Given the description of an element on the screen output the (x, y) to click on. 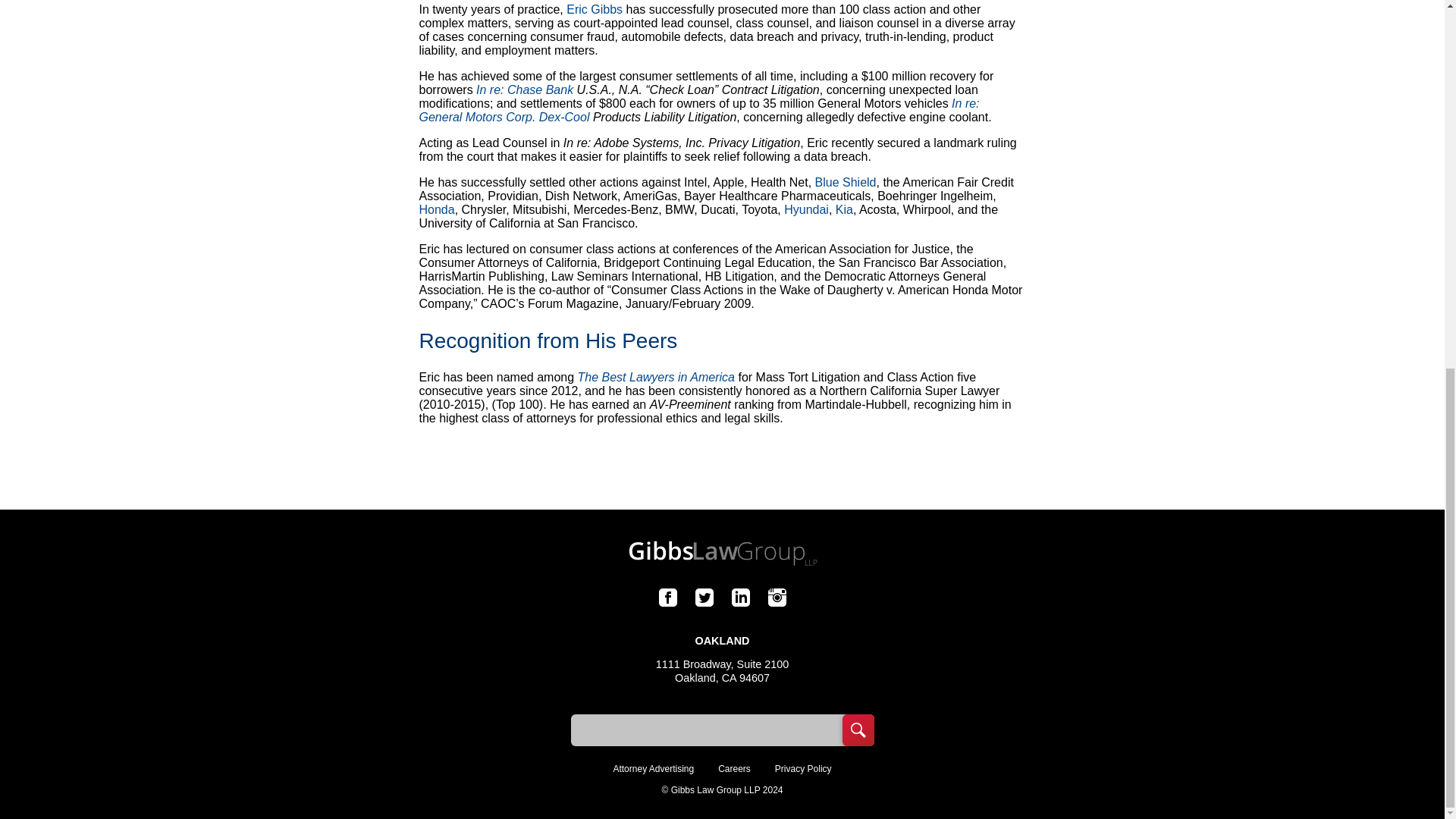
Eric Gibbs (594, 9)
Hyundai (806, 209)
In re: General Motors Corp. Dex-Cool (698, 110)
Privacy Policy (802, 768)
The Best Lawyers in America (656, 377)
Honda (436, 209)
Attorney Advertising (653, 768)
Careers (734, 768)
Kia (844, 209)
Blue Shield (845, 182)
In re: Chase Bank (524, 89)
